Given the description of an element on the screen output the (x, y) to click on. 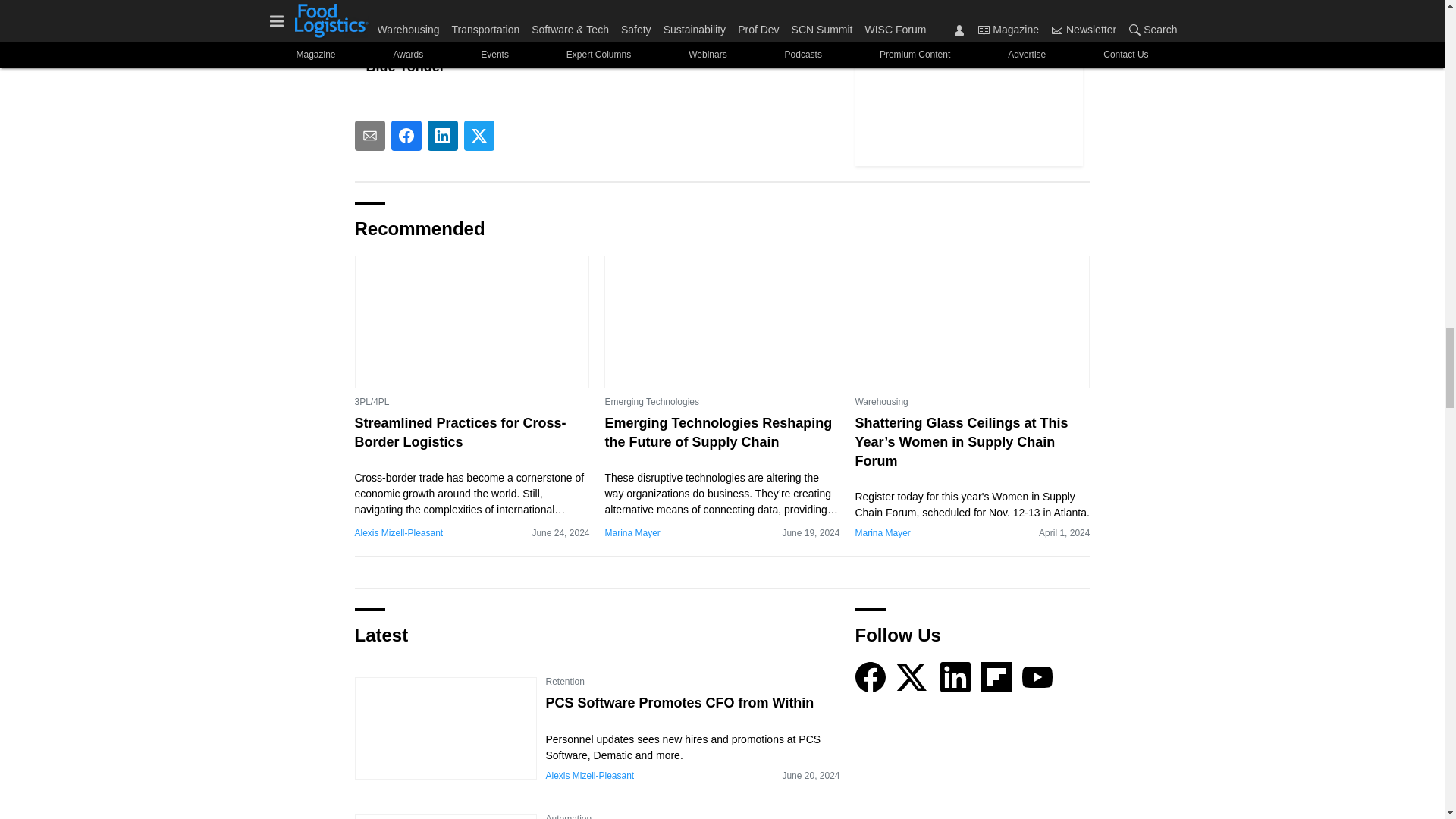
YouTube icon (1037, 676)
Twitter X icon (911, 676)
LinkedIn icon (955, 676)
Share To facebook (406, 135)
Share To twitter (479, 135)
Facebook icon (870, 676)
Flipboard icon (996, 676)
Share To linkedin (443, 135)
Share To email (370, 135)
